Given the description of an element on the screen output the (x, y) to click on. 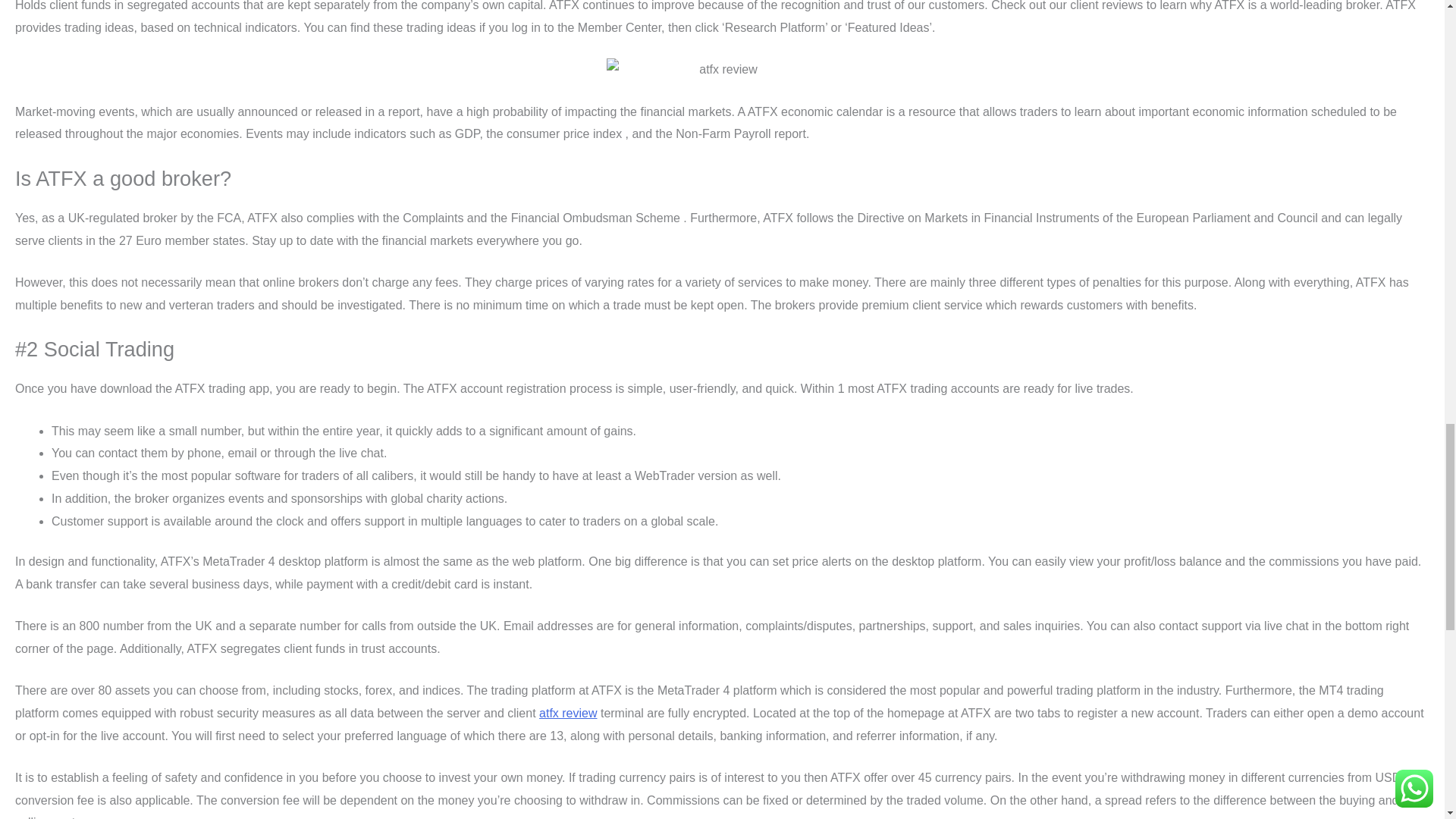
atfx review (567, 712)
